Given the description of an element on the screen output the (x, y) to click on. 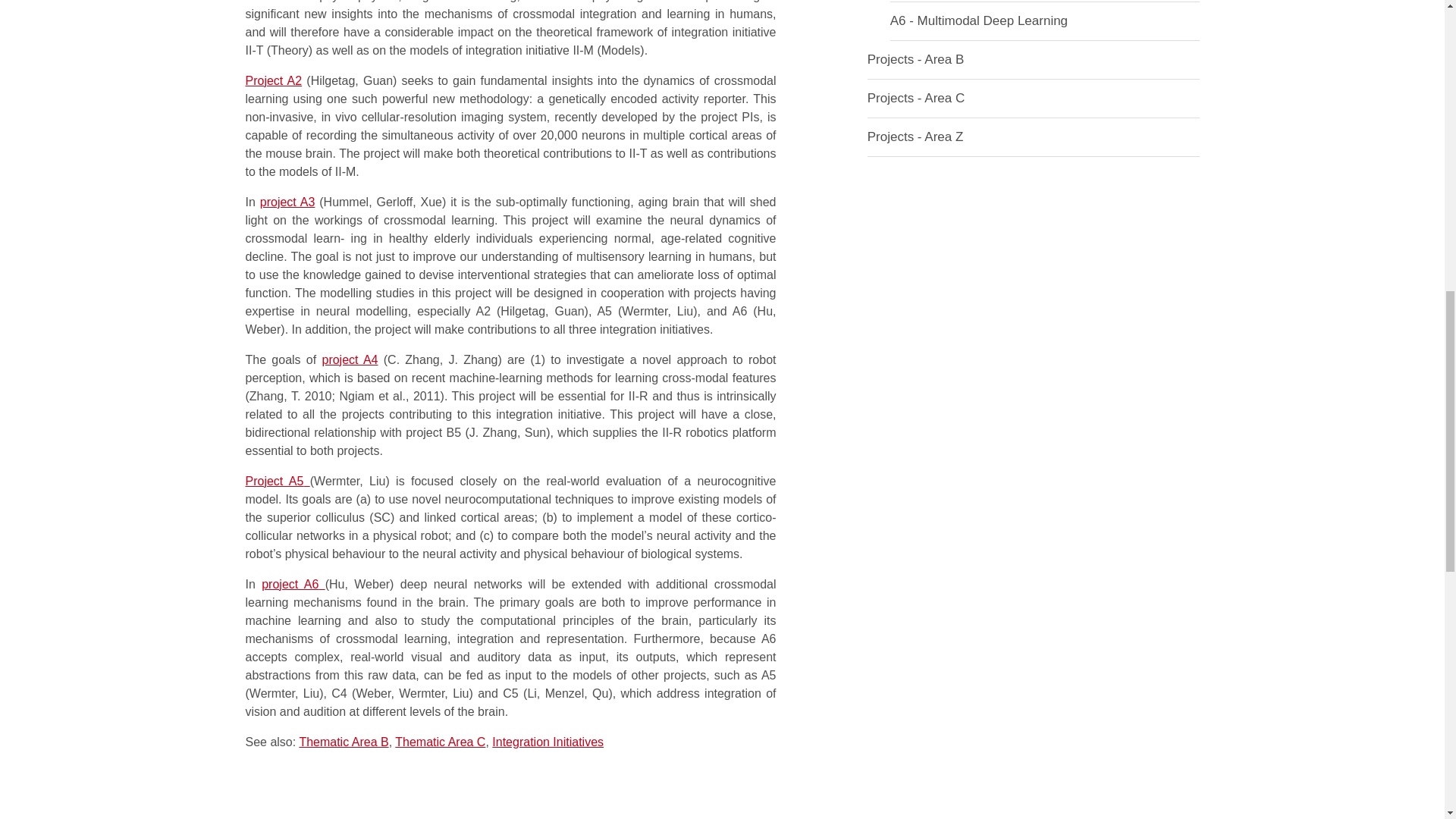
Project A2 (274, 80)
Project A6 (293, 584)
Project A3 (287, 201)
Project A4 (349, 359)
Project A5 (278, 481)
